Given the description of an element on the screen output the (x, y) to click on. 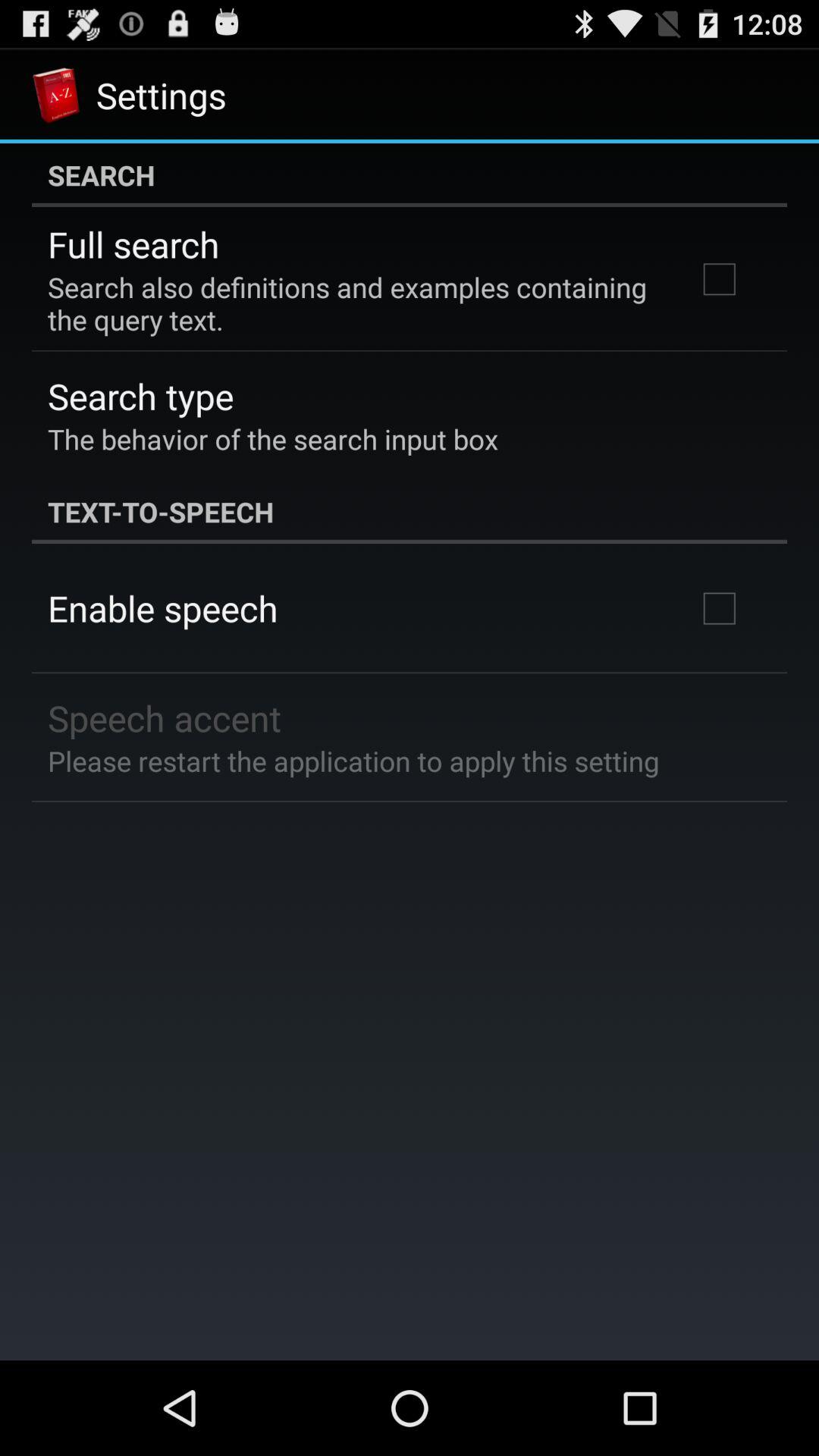
click the app below the text-to-speech (162, 608)
